Given the description of an element on the screen output the (x, y) to click on. 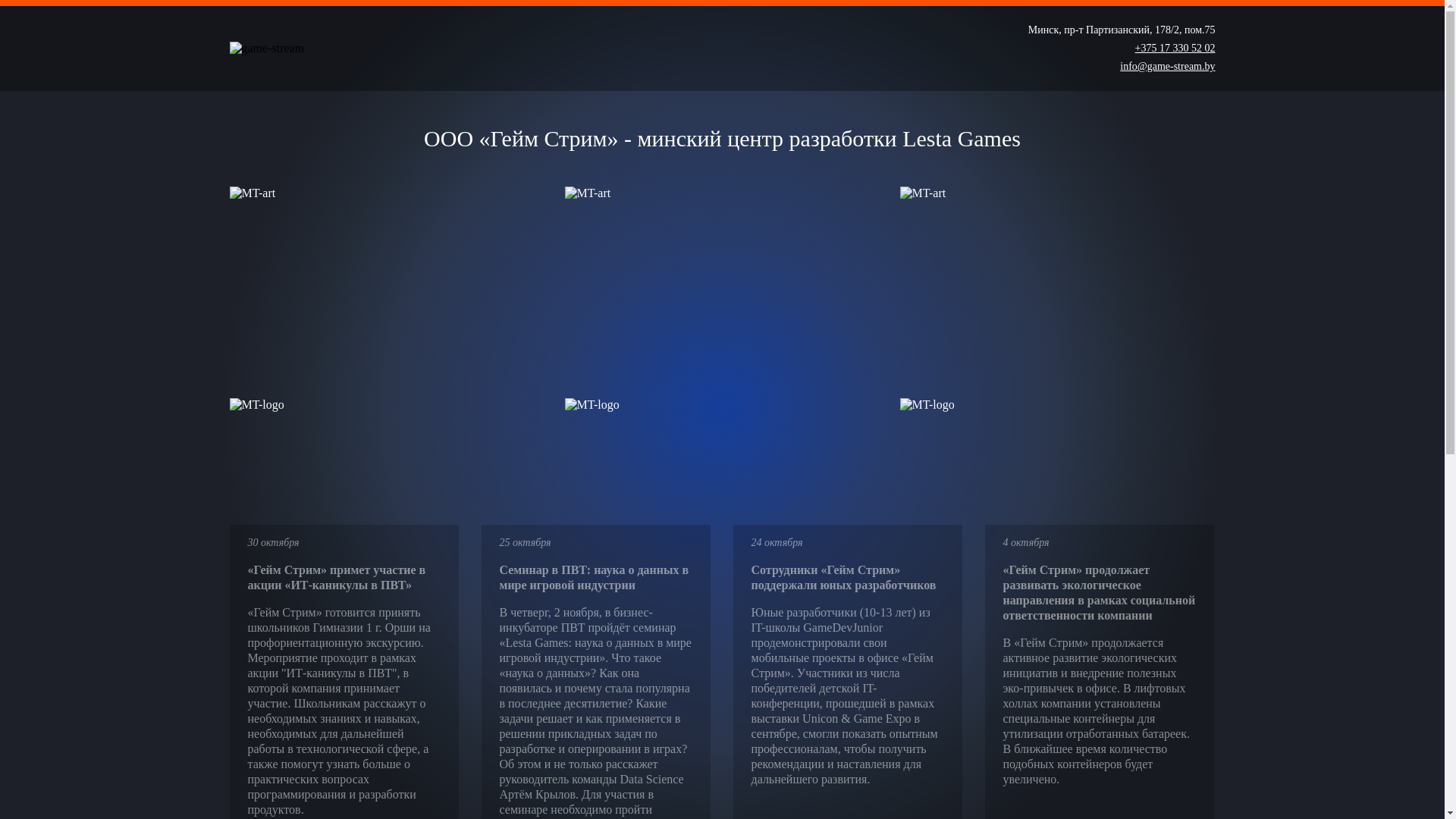
info@game-stream.by Element type: text (1167, 66)
+375 17 330 52 02 Element type: text (1175, 48)
